Given the description of an element on the screen output the (x, y) to click on. 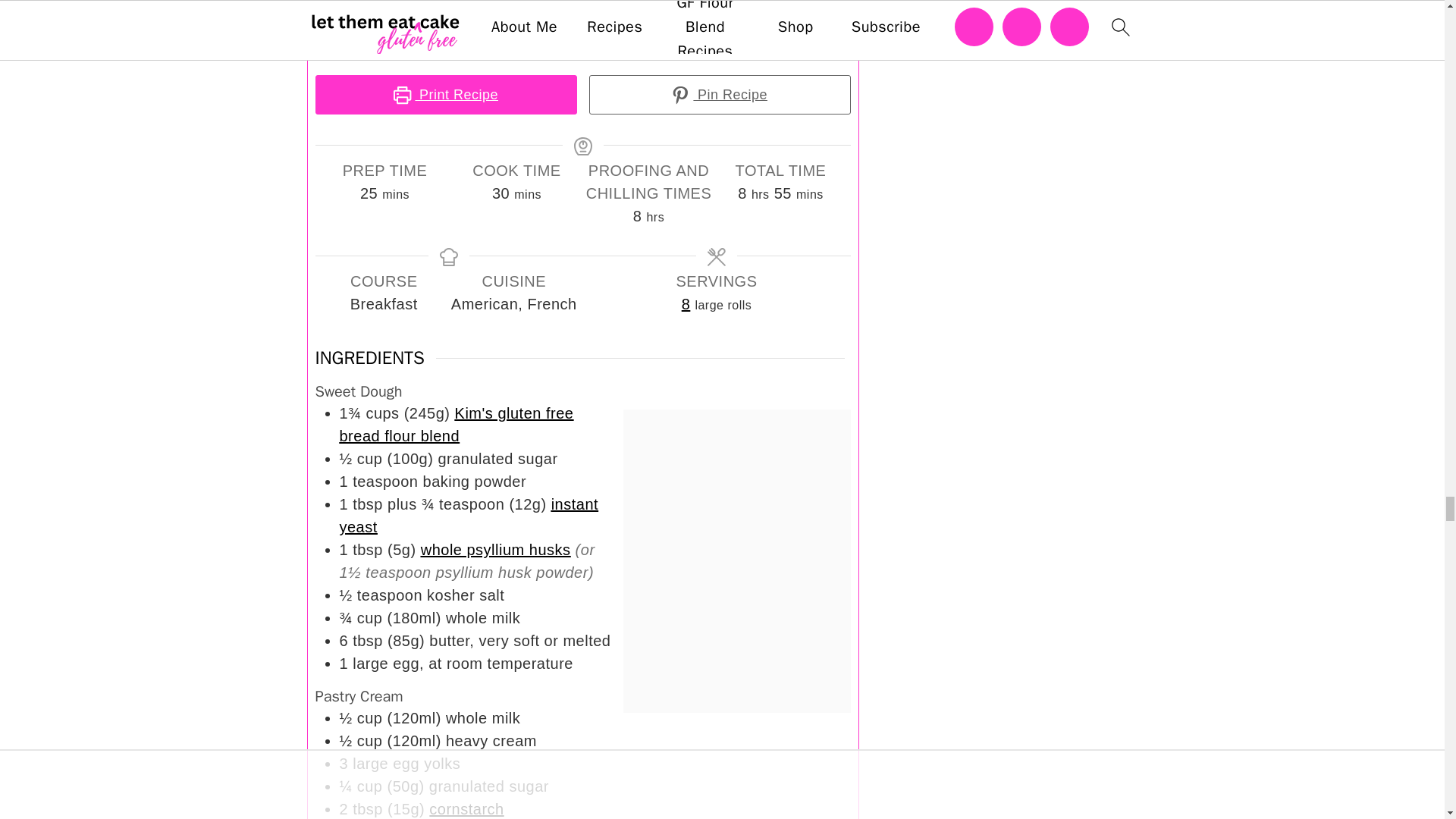
Kim's gluten free bread flour blend (456, 424)
Pin Recipe (719, 94)
Print Recipe (445, 94)
